Given the description of an element on the screen output the (x, y) to click on. 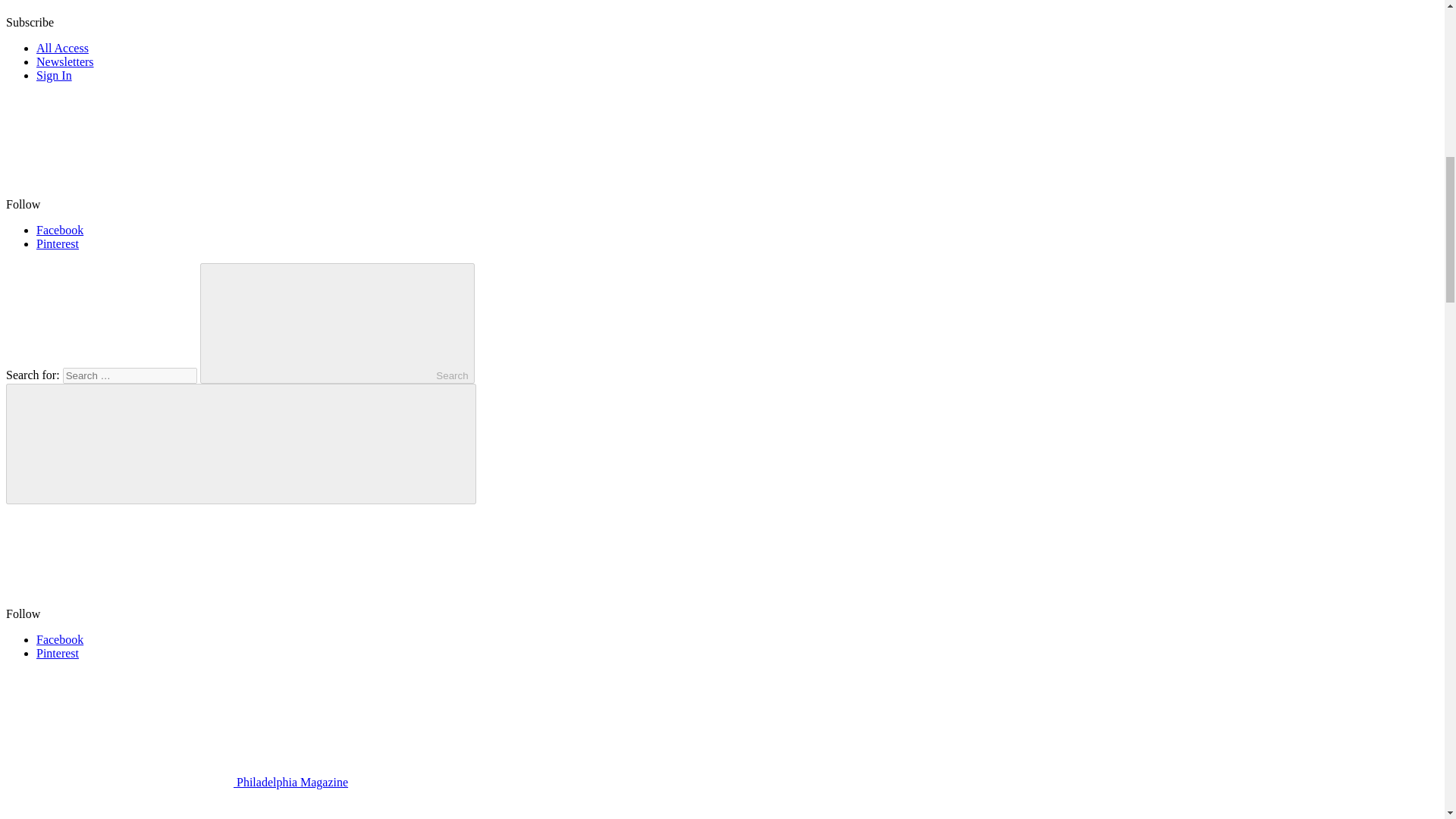
Search for: (129, 375)
Sign In (53, 74)
All Access (62, 47)
Facebook (59, 229)
Newsletters (65, 61)
